Given the description of an element on the screen output the (x, y) to click on. 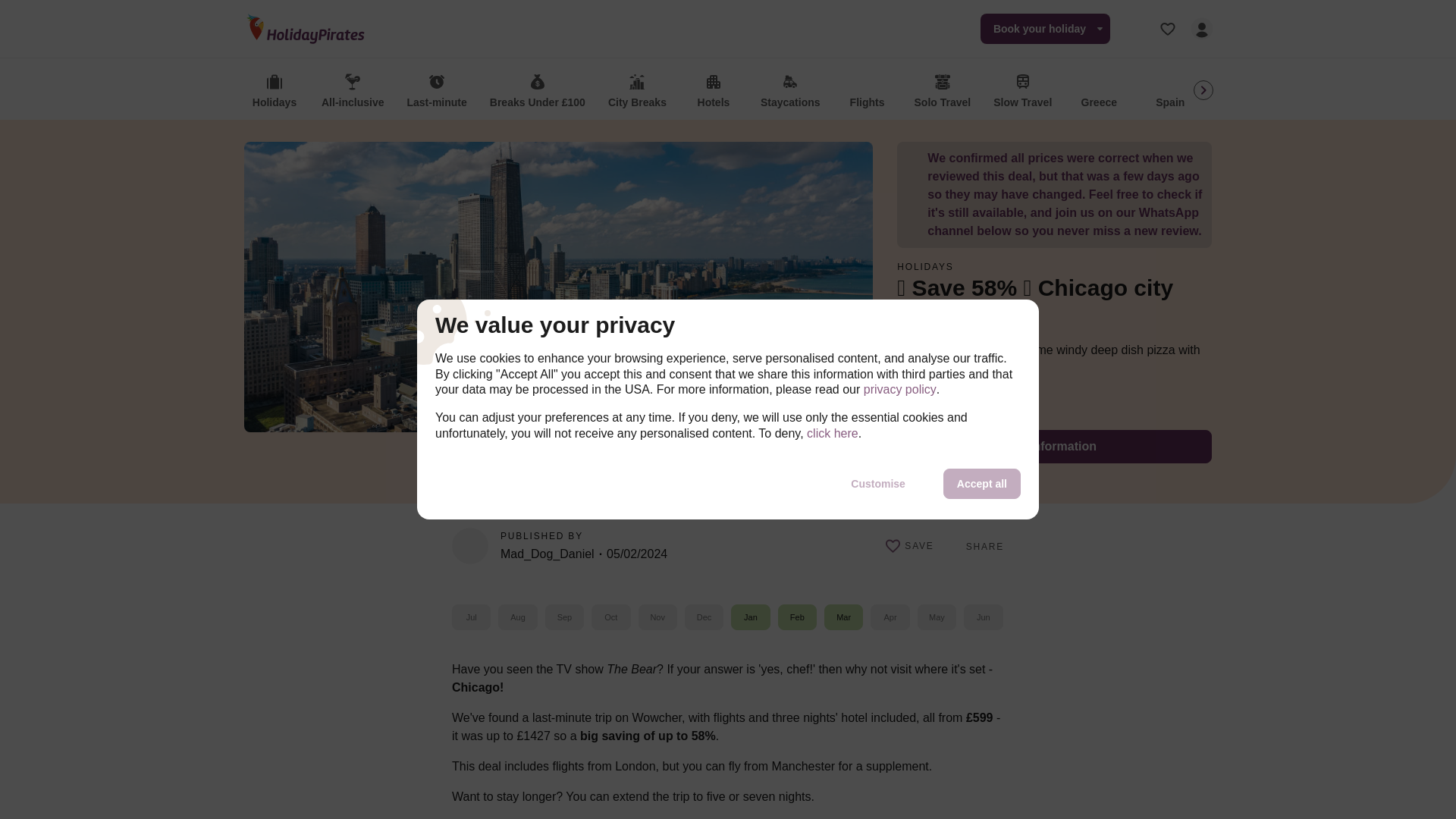
Book your holiday (1044, 28)
Accept all (981, 483)
Staycations (790, 91)
Cruises (1383, 91)
Solo Travel (942, 91)
Hotels (713, 91)
privacy policy (899, 389)
More information (1053, 446)
Last-minute (436, 91)
Greece (1099, 91)
click here (832, 433)
City Breaks (636, 91)
Customise (877, 483)
Spain (1170, 91)
Holidays (274, 91)
